Given the description of an element on the screen output the (x, y) to click on. 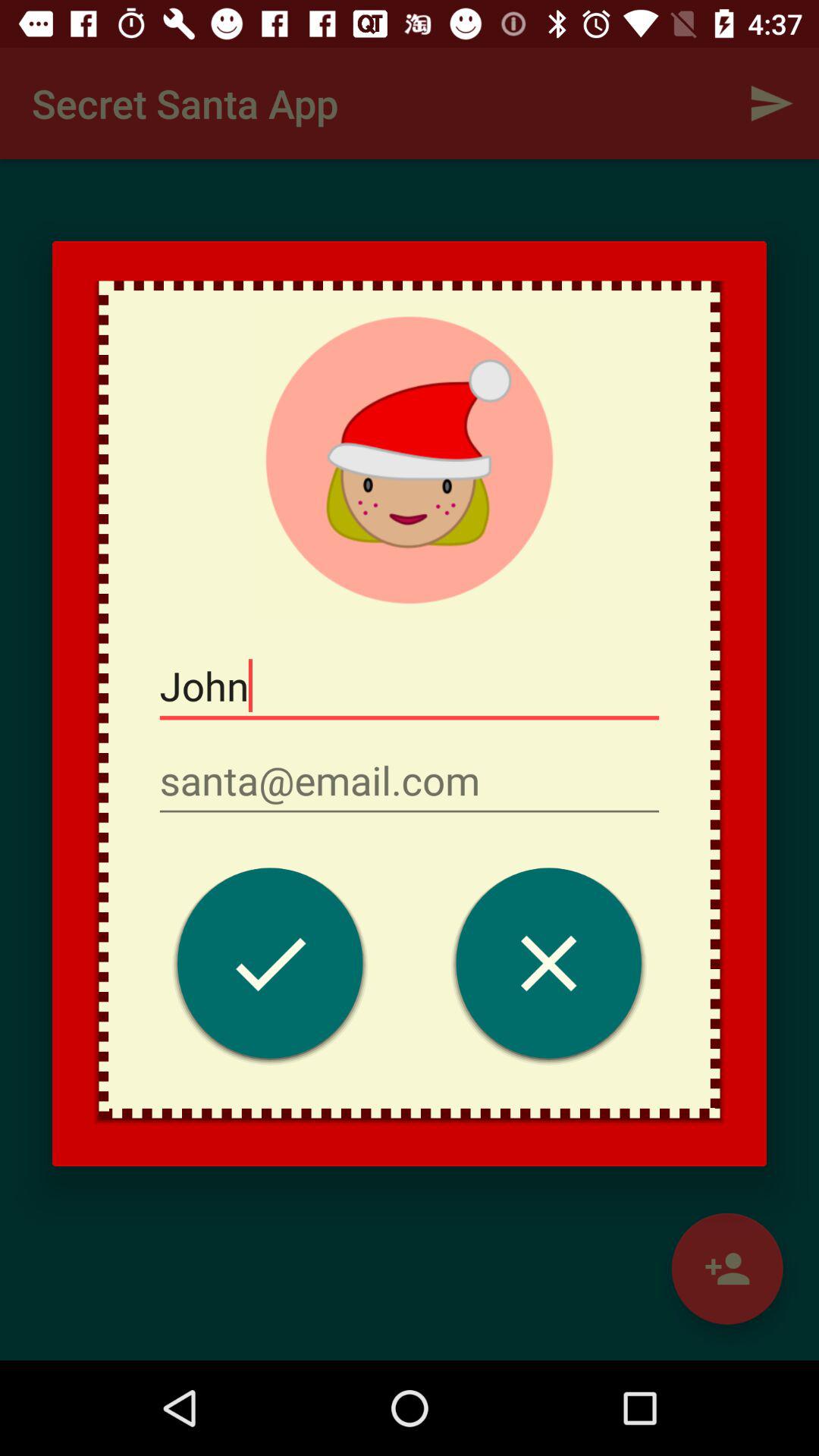
accept (269, 966)
